Given the description of an element on the screen output the (x, y) to click on. 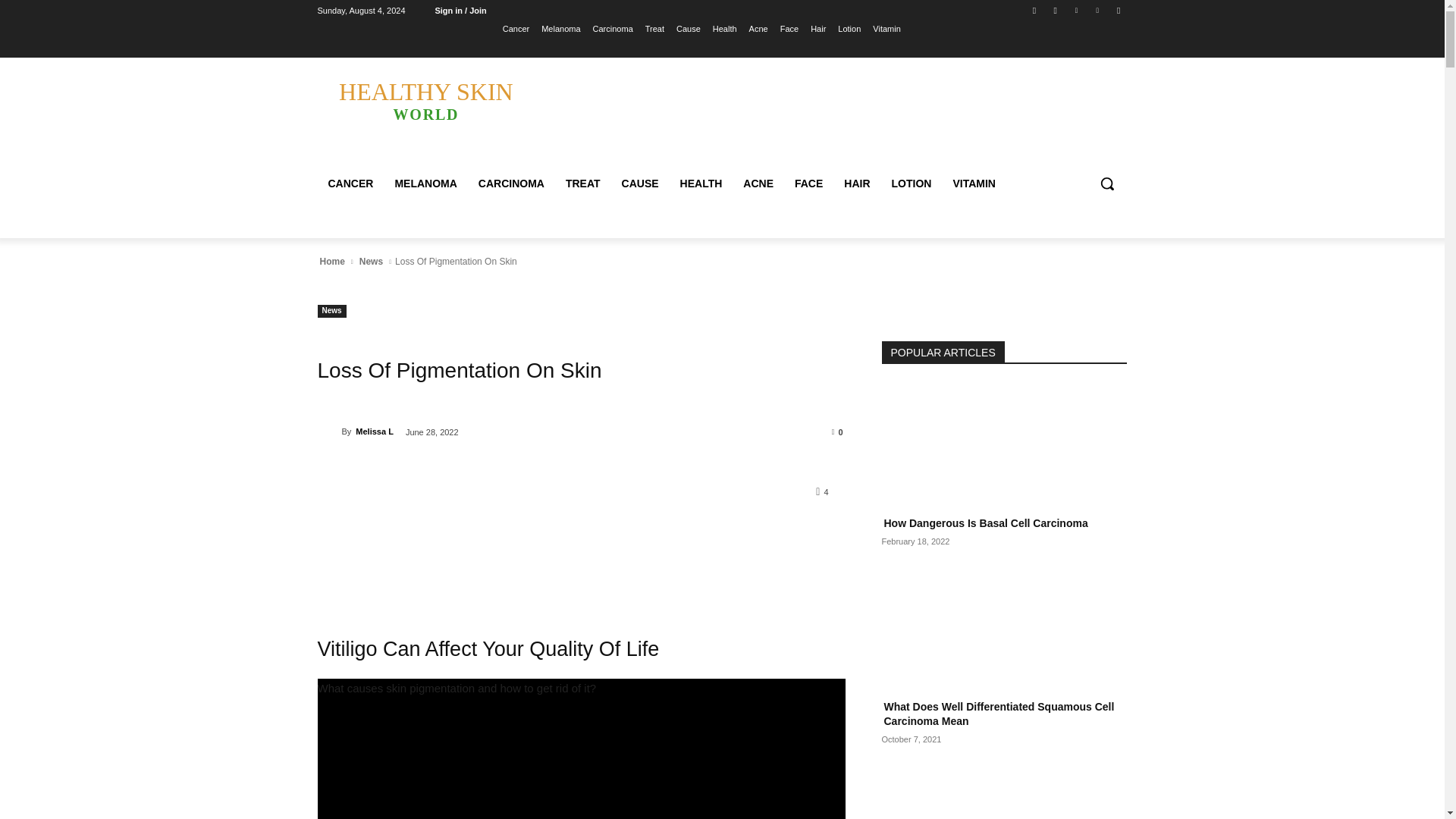
Twitter (1075, 9)
Youtube (1117, 9)
Carcinoma (612, 28)
Facebook (1034, 9)
View all posts in News (370, 261)
Vitamin (885, 28)
Acne (758, 28)
Cancer (515, 28)
Treat (654, 28)
Melanoma (560, 28)
